Given the description of an element on the screen output the (x, y) to click on. 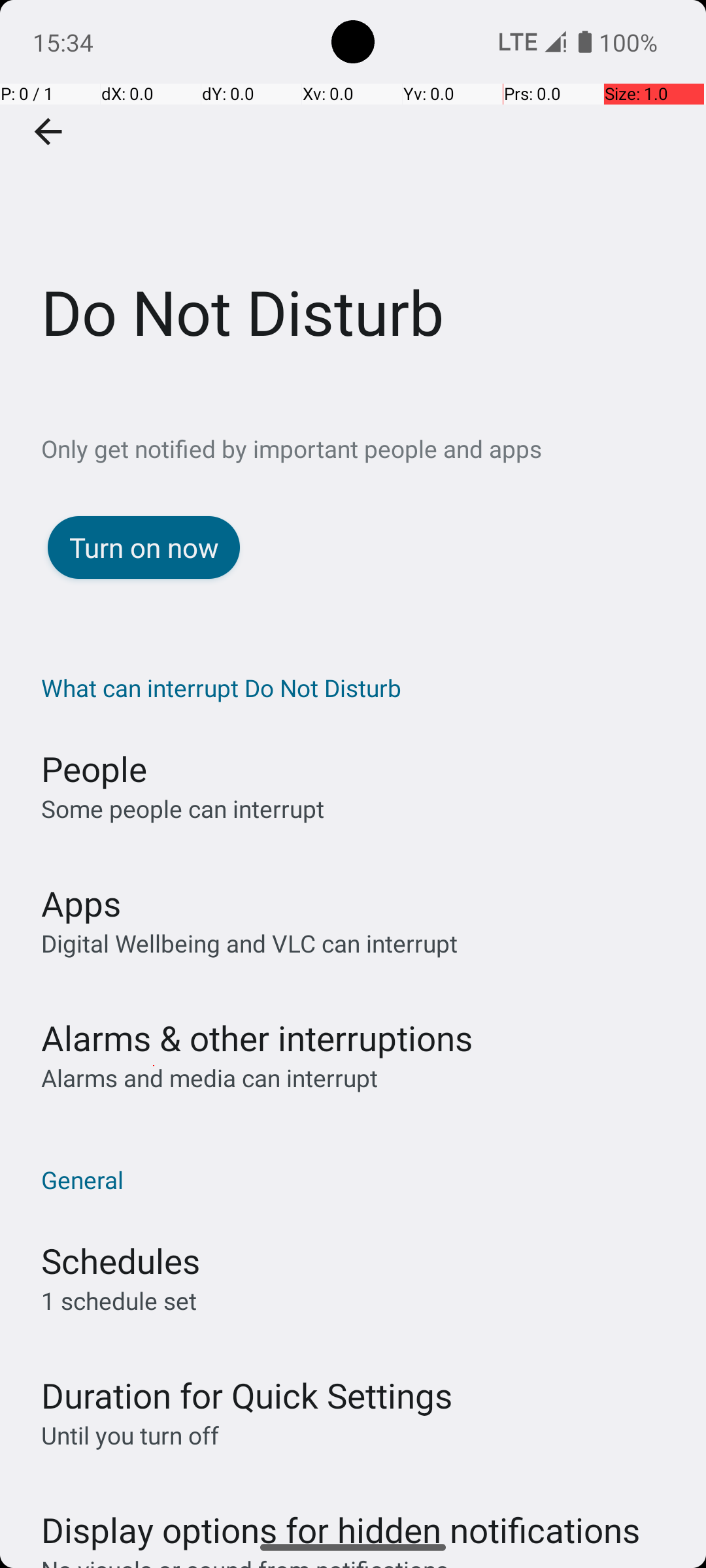
Only get notified by important people and apps Element type: android.widget.TextView (373, 448)
What can interrupt Do Not Disturb Element type: android.widget.TextView (359, 687)
People Element type: android.widget.TextView (94, 768)
Some people can interrupt Element type: android.widget.TextView (182, 808)
Digital Wellbeing and VLC can interrupt Element type: android.widget.TextView (249, 942)
Alarms & other interruptions Element type: android.widget.TextView (256, 1037)
Alarms and media can interrupt Element type: android.widget.TextView (209, 1077)
1 schedule set Element type: android.widget.TextView (118, 1300)
Duration for Quick Settings Element type: android.widget.TextView (246, 1395)
Display options for hidden notifications Element type: android.widget.TextView (340, 1516)
